Given the description of an element on the screen output the (x, y) to click on. 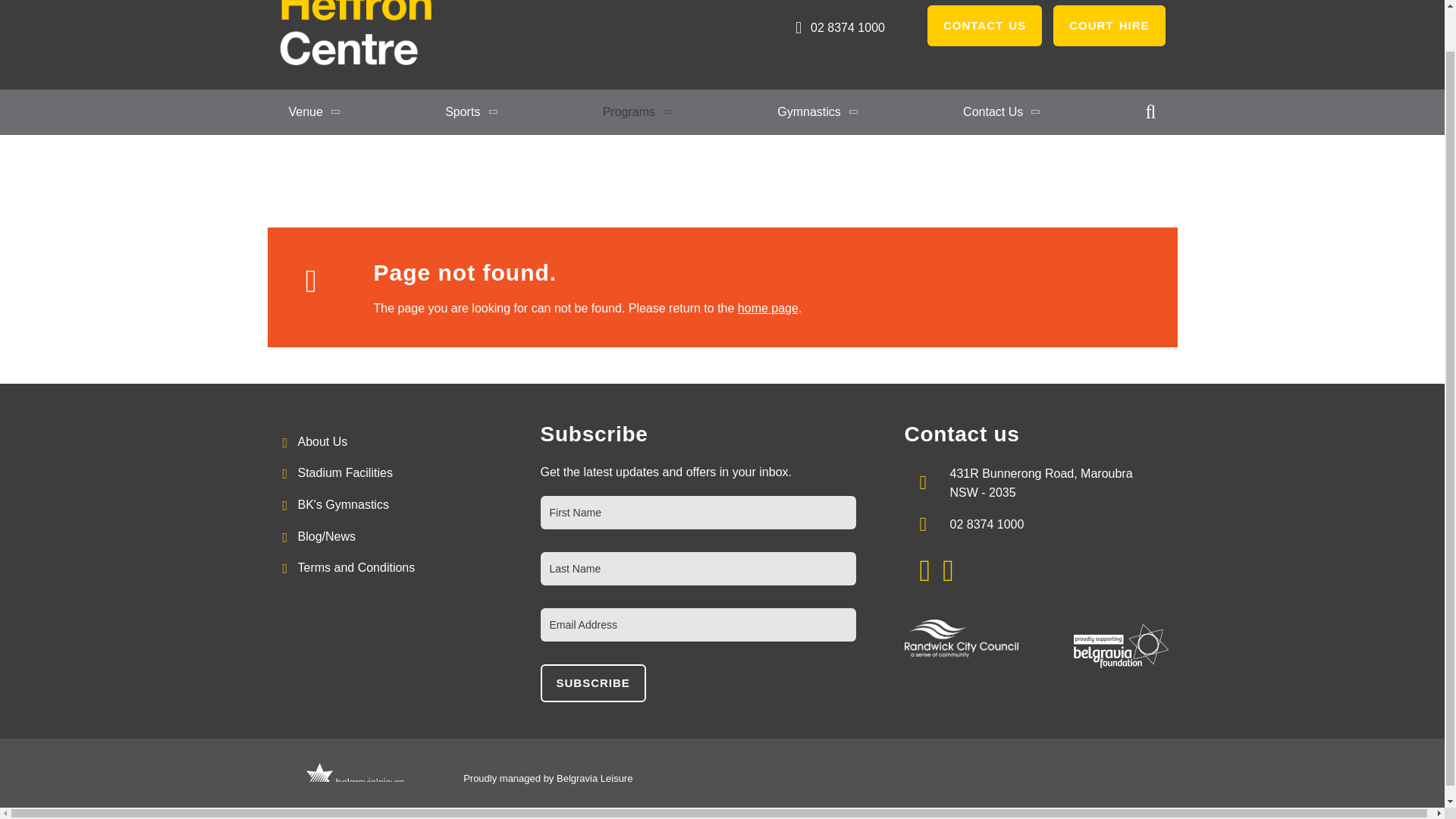
CONTACT US (984, 24)
Venue (314, 112)
Sports (471, 112)
COURT HIRE (1108, 24)
Gymnastics (817, 112)
Programs (637, 112)
02 8374 1000 (837, 27)
subscribe (592, 682)
Contact Us (1001, 112)
